Given the description of an element on the screen output the (x, y) to click on. 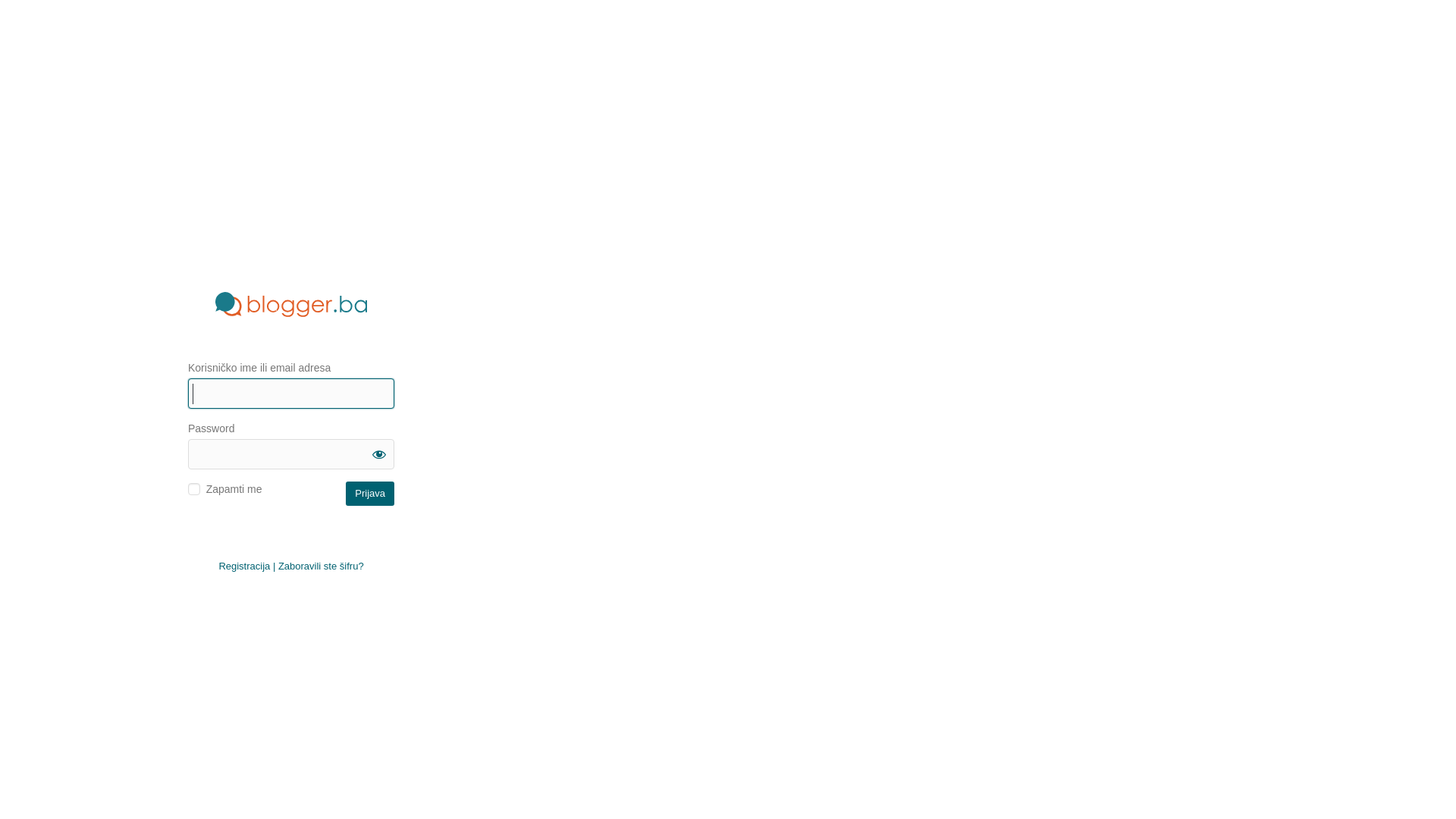
Prijava Element type: text (369, 493)
Registracija Element type: text (243, 565)
